Given the description of an element on the screen output the (x, y) to click on. 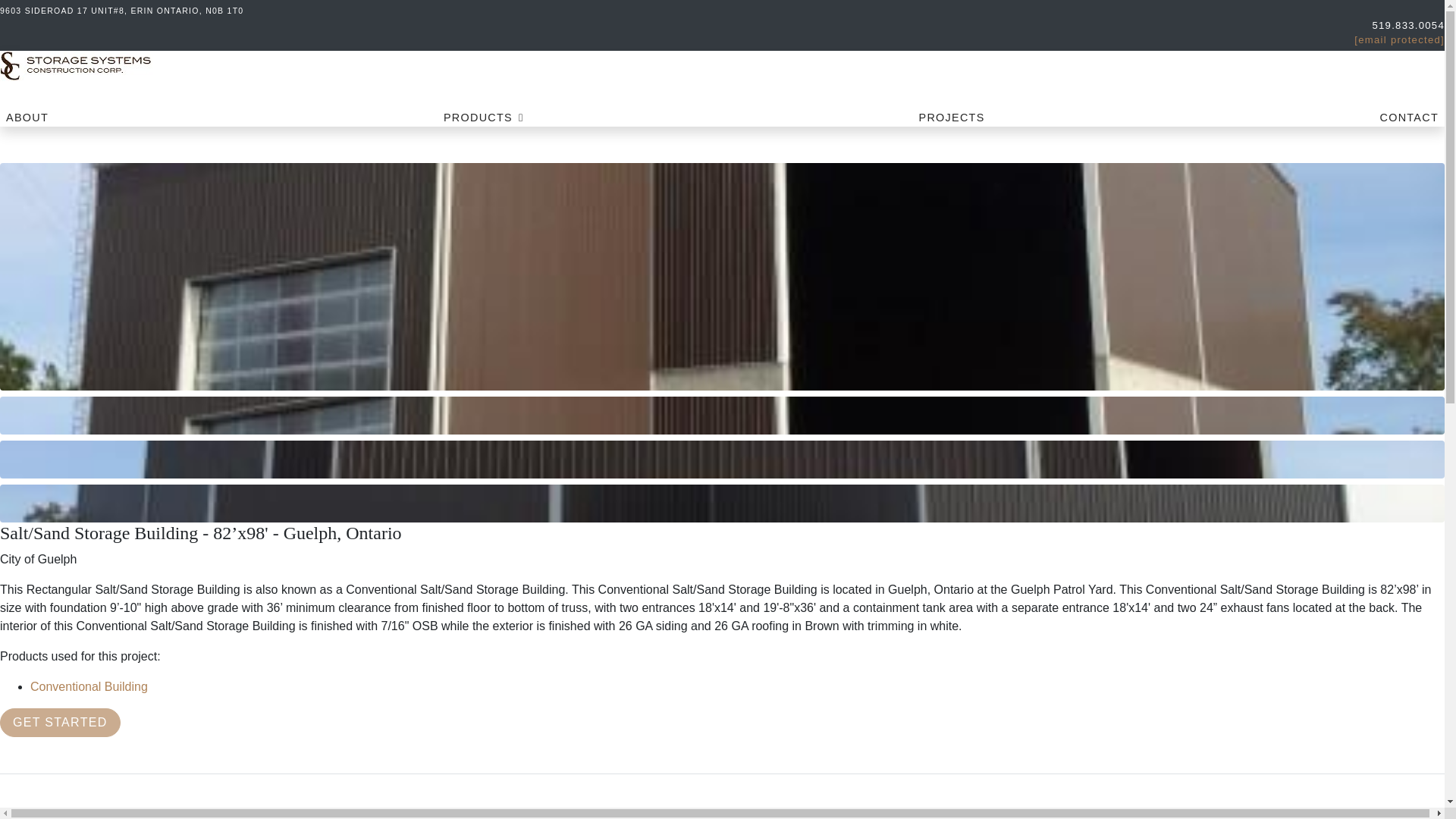
GET STARTED (60, 722)
Conventional Building (89, 686)
CONTACT (1409, 119)
PRODUCTS (483, 119)
PROJECTS (951, 119)
